Given the description of an element on the screen output the (x, y) to click on. 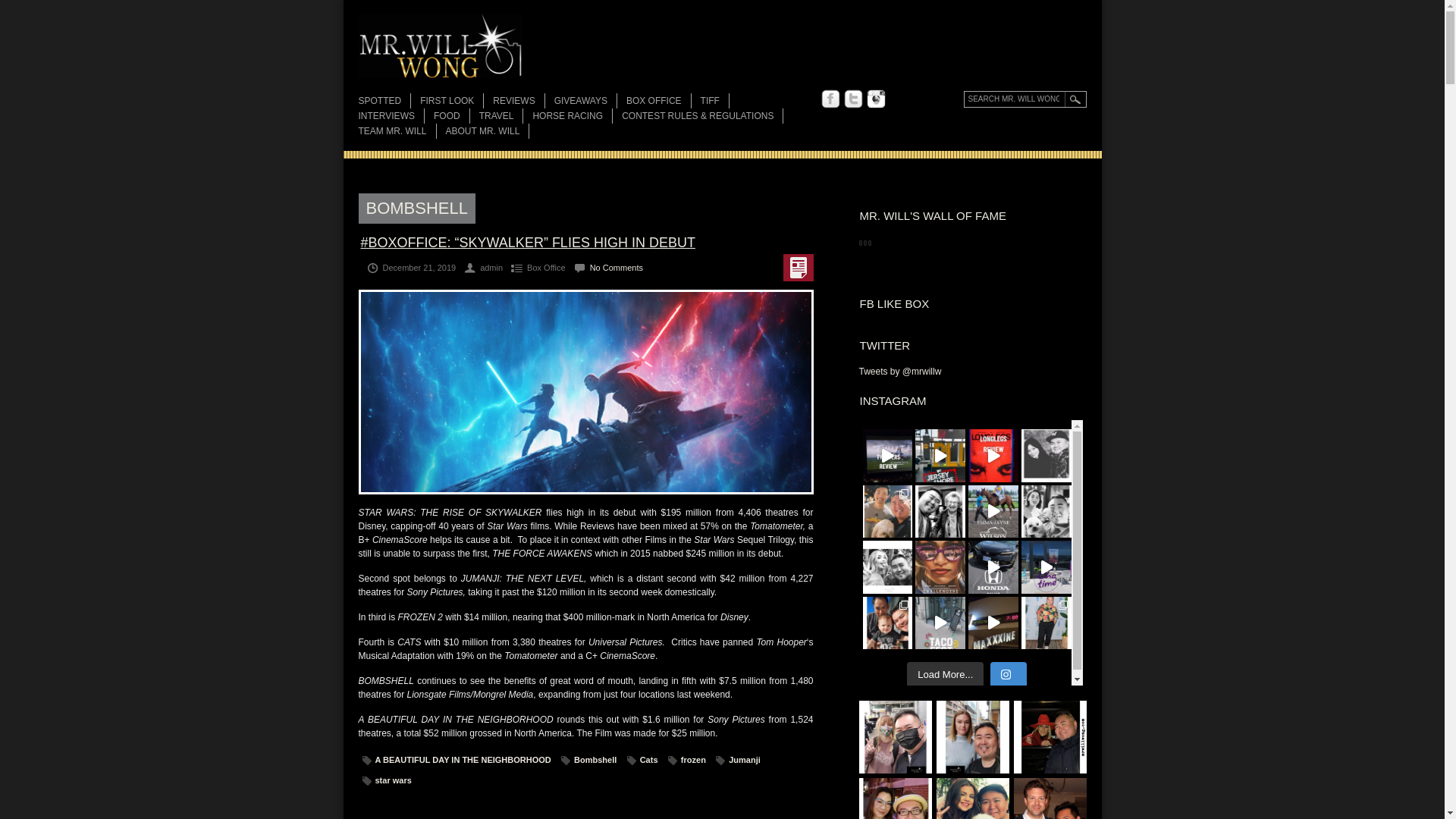
SPOTTED (384, 100)
FIRST LOOK (451, 100)
Search Mr. Will Wong (1024, 98)
ABOUT MR. WILL (487, 130)
GIVEAWAYS (584, 100)
FOOD (450, 115)
TIFF (714, 100)
TEAM MR. WILL (396, 130)
Load More... (945, 674)
INTERVIEWS (390, 115)
HORSE RACING (571, 115)
TRAVEL (500, 115)
BOX OFFICE (658, 100)
